Given the description of an element on the screen output the (x, y) to click on. 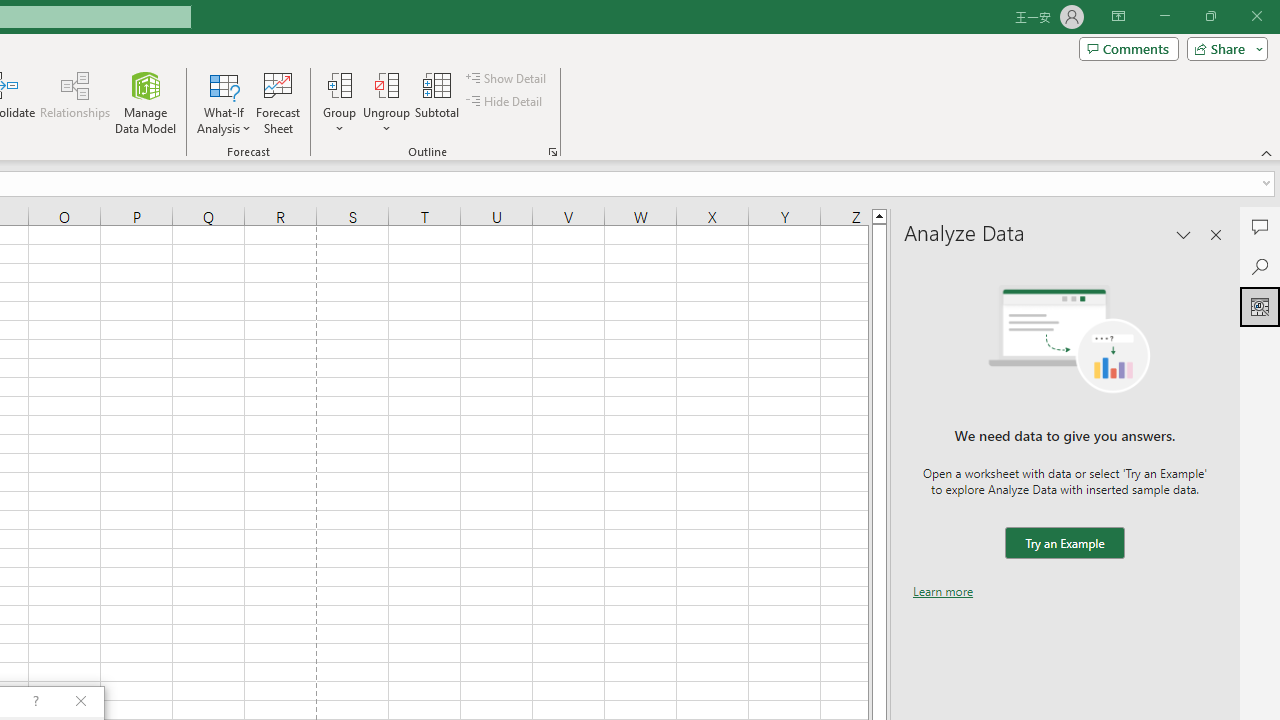
Learn more (943, 591)
Collapse the Ribbon (1267, 152)
Line up (879, 215)
Restore Down (1210, 16)
Task Pane Options (1183, 234)
Search (1260, 266)
Group... (339, 84)
Manage Data Model (145, 102)
What-If Analysis (223, 102)
Minimize (1164, 16)
We need data to give you answers. Try an Example (1064, 543)
Share (1223, 48)
Ungroup... (386, 102)
